Given the description of an element on the screen output the (x, y) to click on. 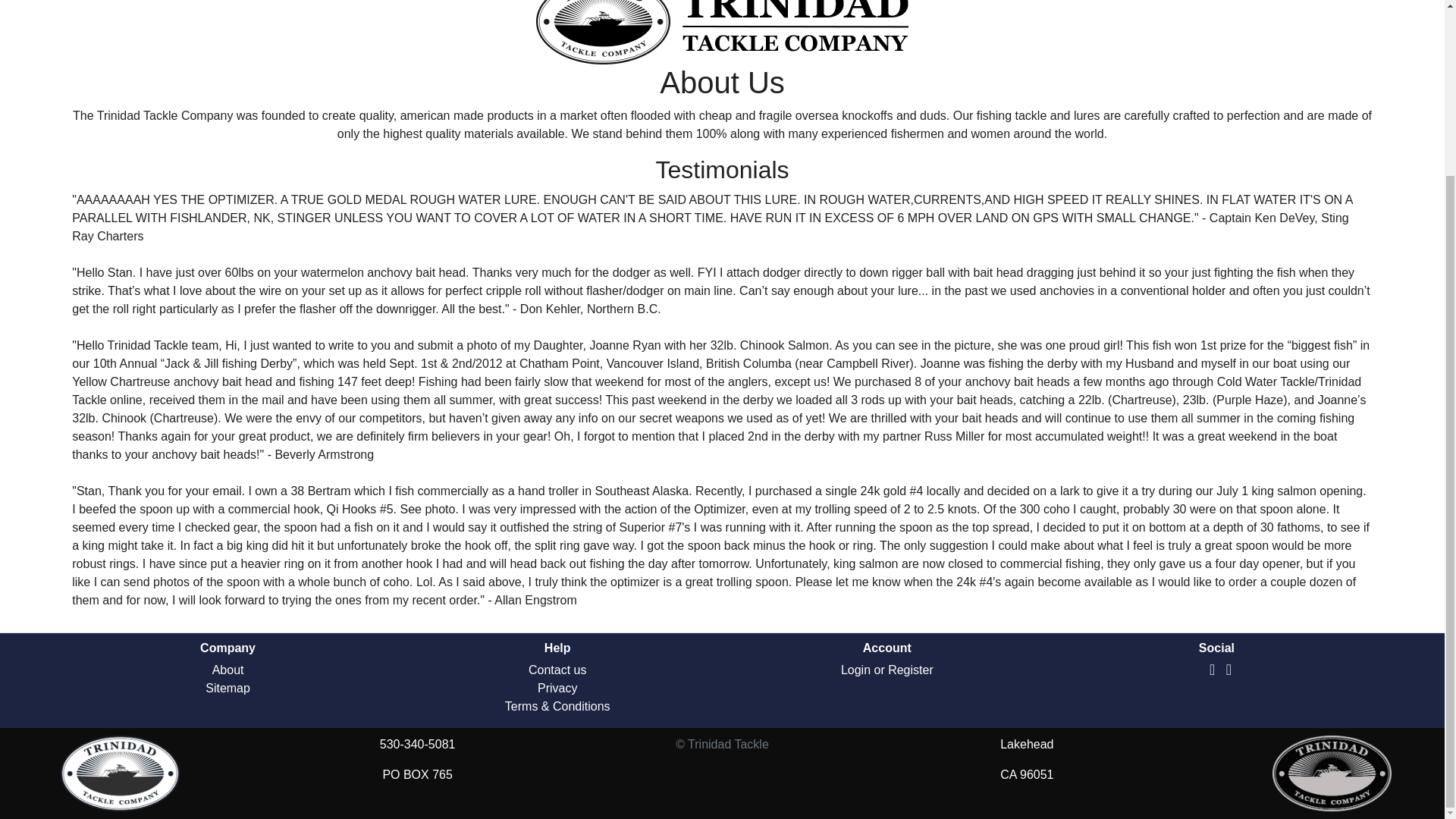
Contact us (557, 669)
Sitemap (227, 687)
Privacy (556, 687)
Login or Register (887, 669)
About (228, 669)
